Given the description of an element on the screen output the (x, y) to click on. 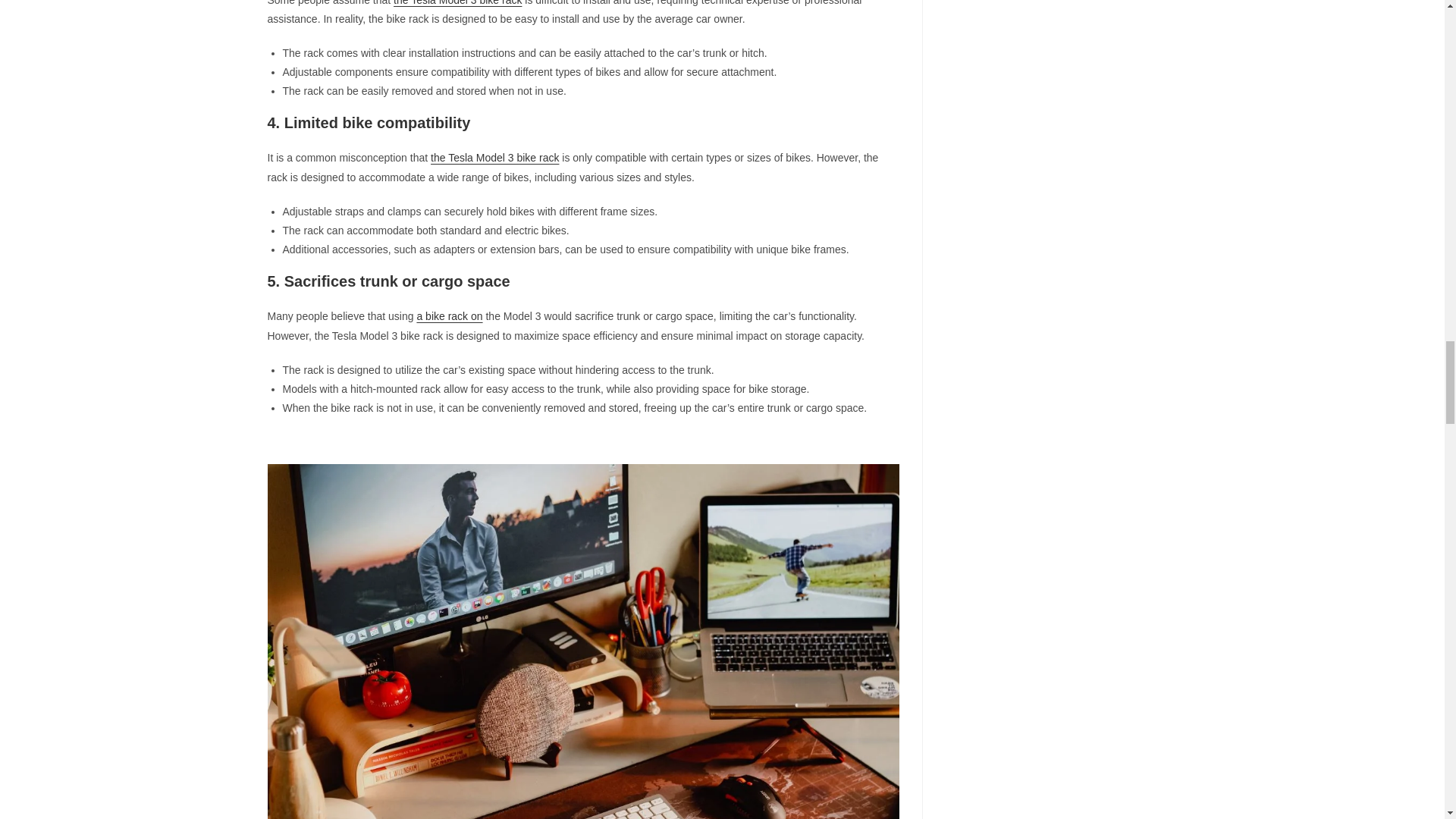
the Tesla Model 3 bike rack (494, 157)
a bike rack on (448, 316)
the Tesla Model 3 bike rack (457, 2)
